Given the description of an element on the screen output the (x, y) to click on. 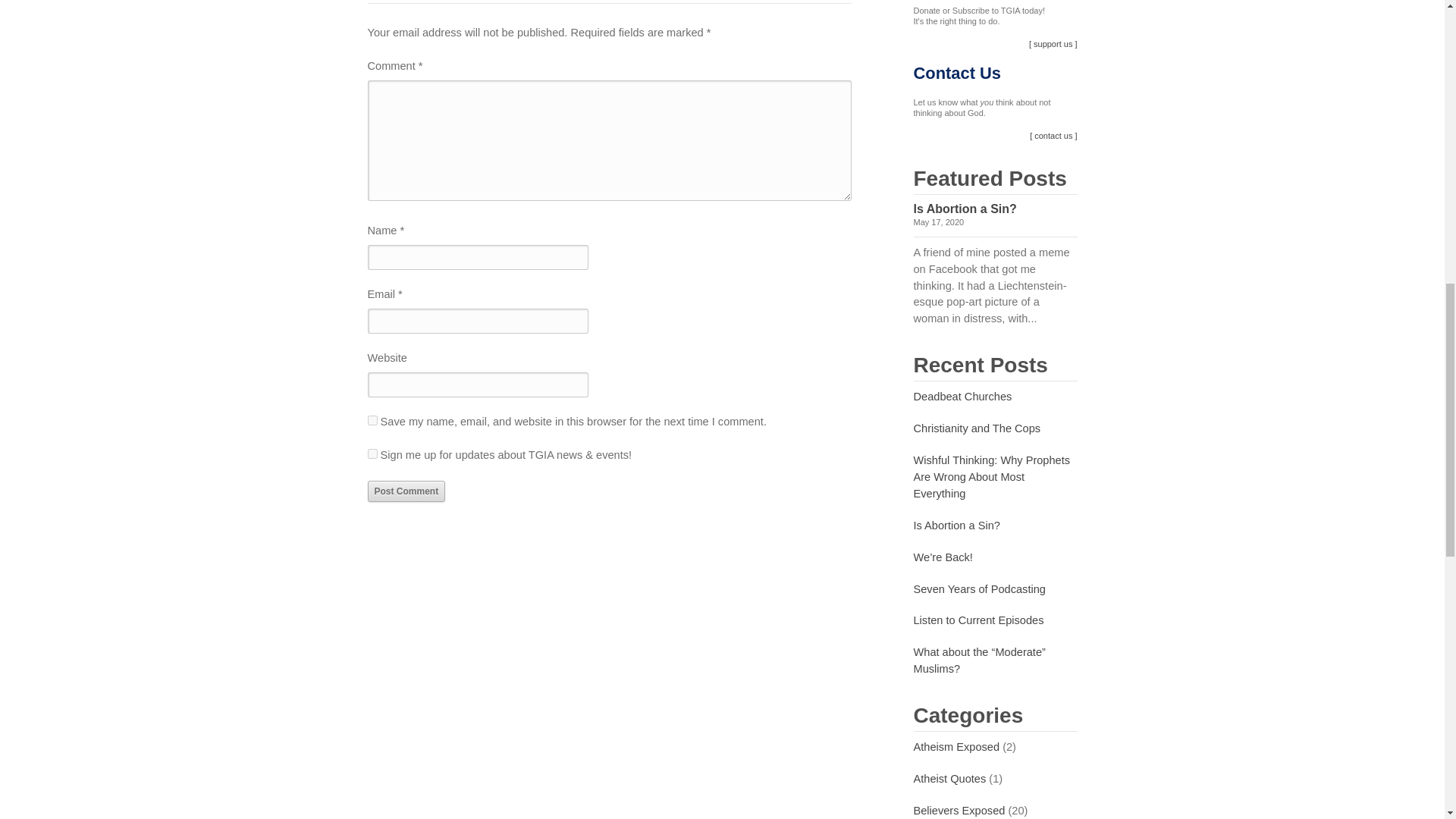
Listen to Current Episodes (977, 620)
Deadbeat Churches (961, 396)
Is Abortion a Sin? (964, 208)
Post Comment (405, 491)
Seven Years of Podcasting (978, 588)
Contact Us (956, 72)
Post Comment (405, 491)
Atheism Exposed (955, 746)
Christianity and The Cops (976, 428)
Is Abortion a Sin? (955, 525)
